Given the description of an element on the screen output the (x, y) to click on. 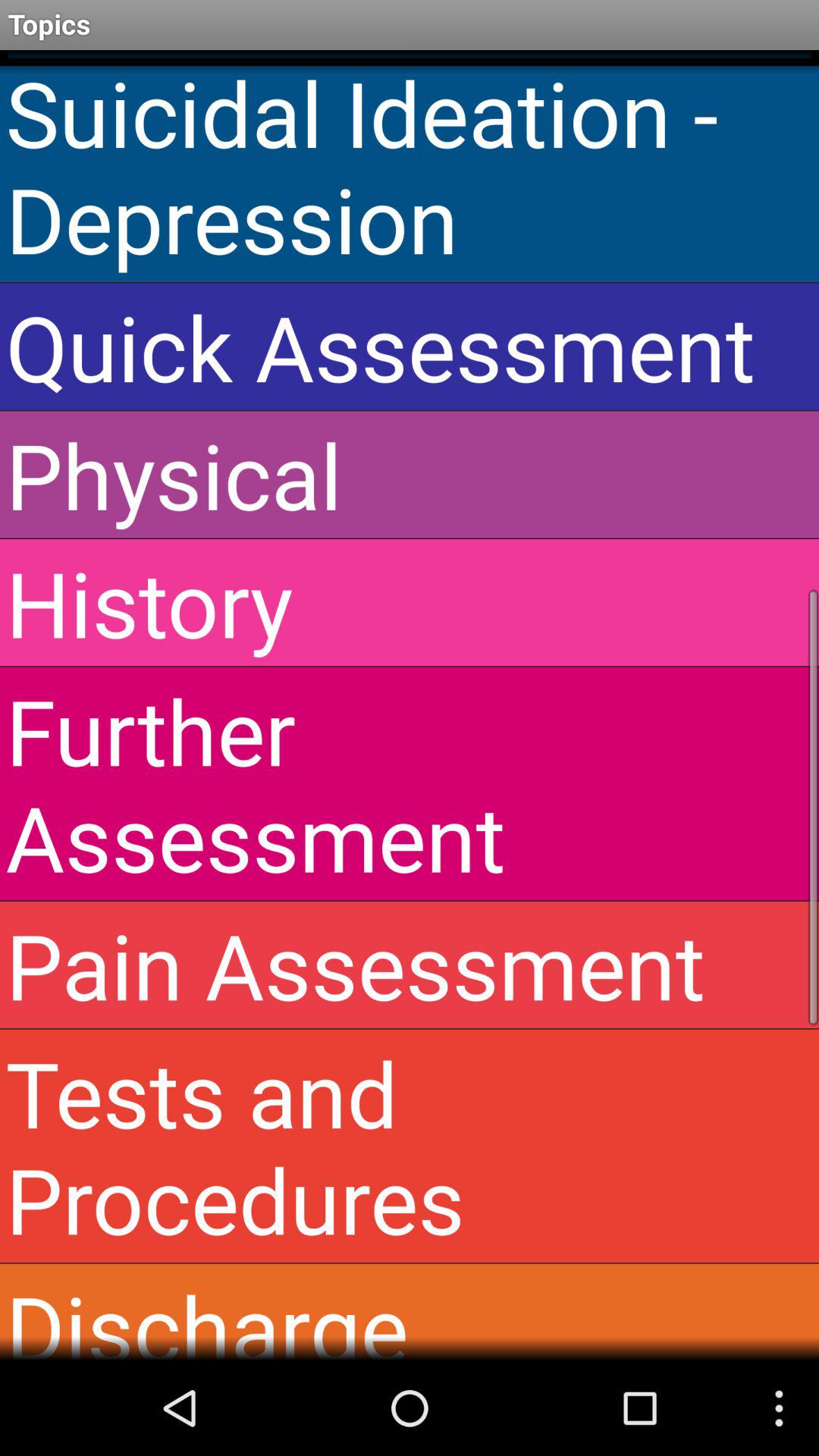
press app below the tests and procedures icon (409, 1311)
